Given the description of an element on the screen output the (x, y) to click on. 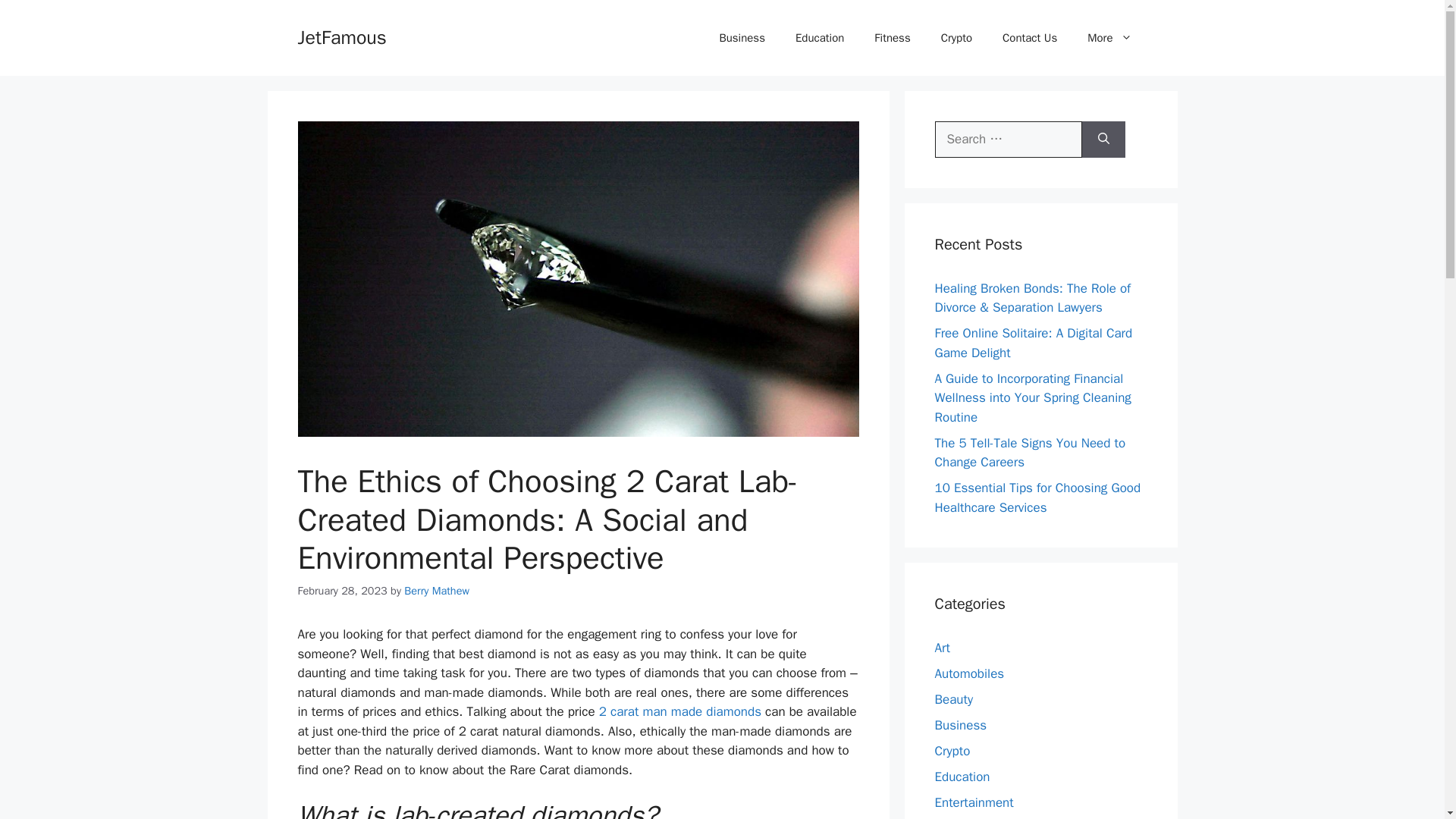
Free Online Solitaire: A Digital Card Game Delight (1033, 343)
Art (941, 647)
2 carat man made diamonds (679, 711)
The 5 Tell-Tale Signs You Need to Change Careers (1029, 452)
Business (960, 725)
More (1109, 37)
JetFamous (341, 37)
Contact Us (1029, 37)
Crypto (951, 750)
Business (741, 37)
Search for: (1007, 139)
Education (819, 37)
View all posts by Berry Mathew (436, 590)
Crypto (956, 37)
